Given the description of an element on the screen output the (x, y) to click on. 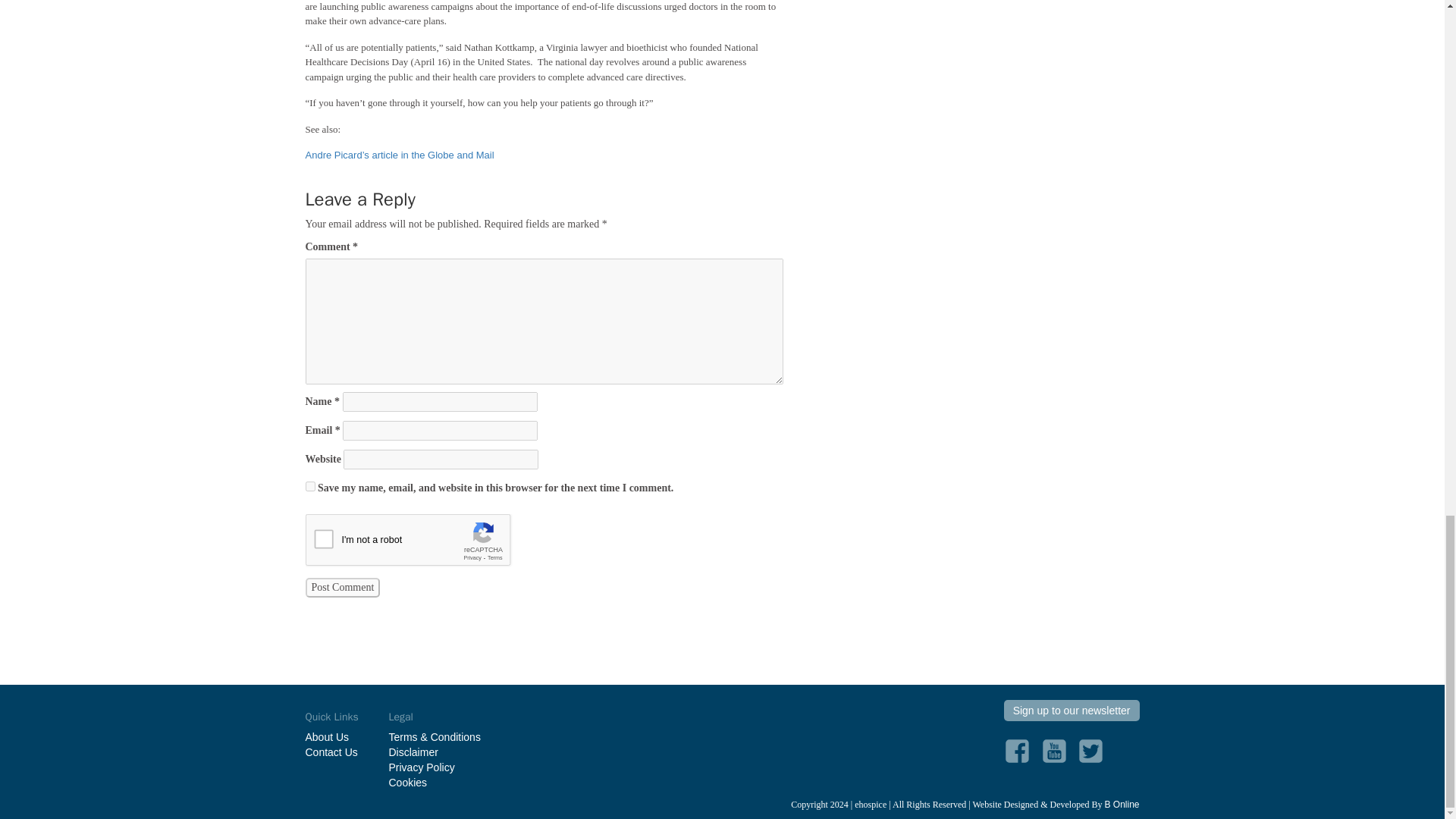
Post Comment (342, 587)
yes (309, 486)
reCAPTCHA (419, 543)
